Given the description of an element on the screen output the (x, y) to click on. 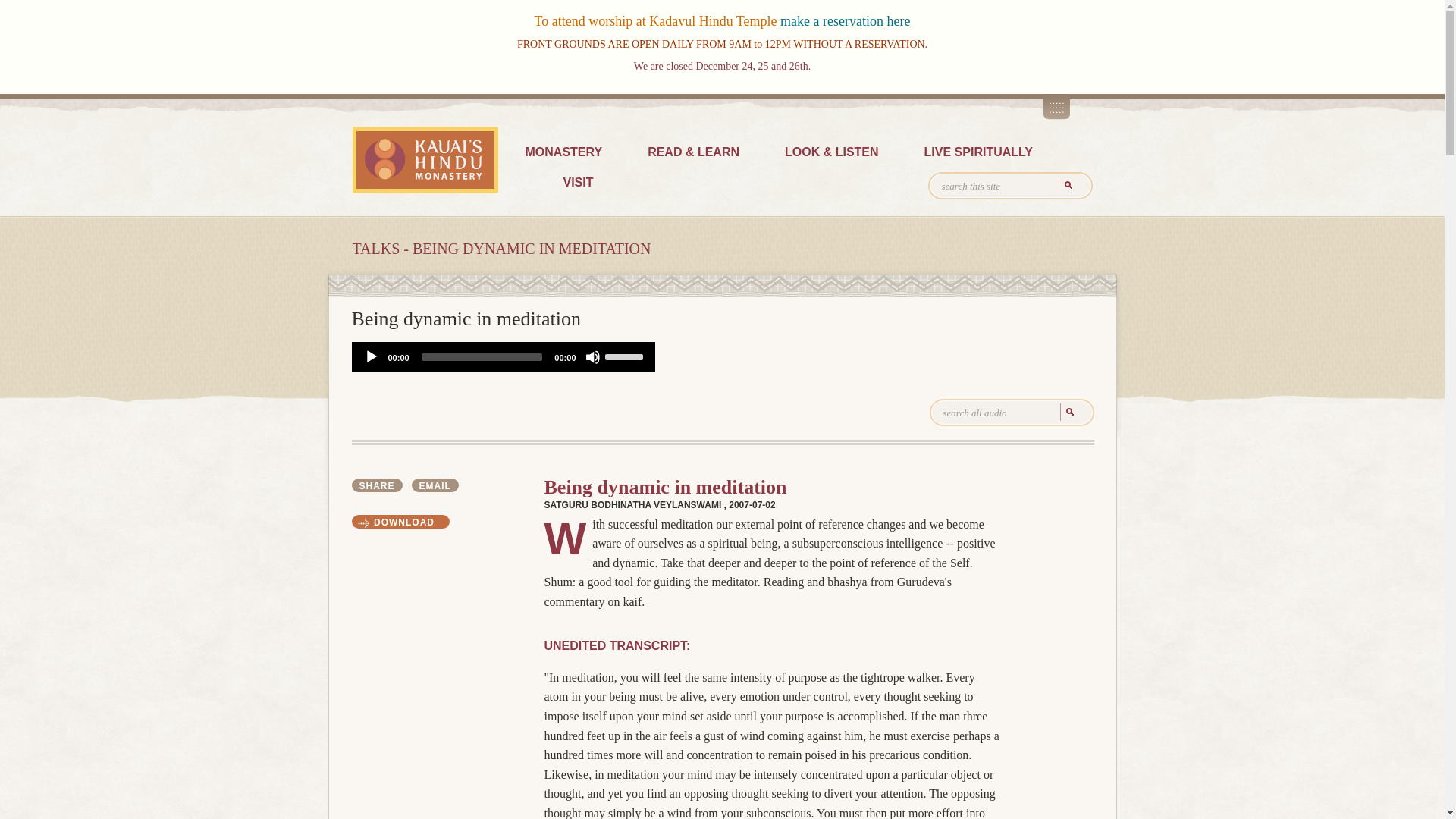
Related Sites (1056, 106)
KAUAI'S HINDU MONASTERY (424, 159)
Mute (592, 356)
Play (371, 356)
Expand Our Network Menu (1056, 106)
search this site (1010, 185)
MONASTERY (563, 152)
make a reservation here (845, 20)
search all audio (1012, 411)
To attend worship at Kadavul Hindu Temple (657, 20)
